Given the description of an element on the screen output the (x, y) to click on. 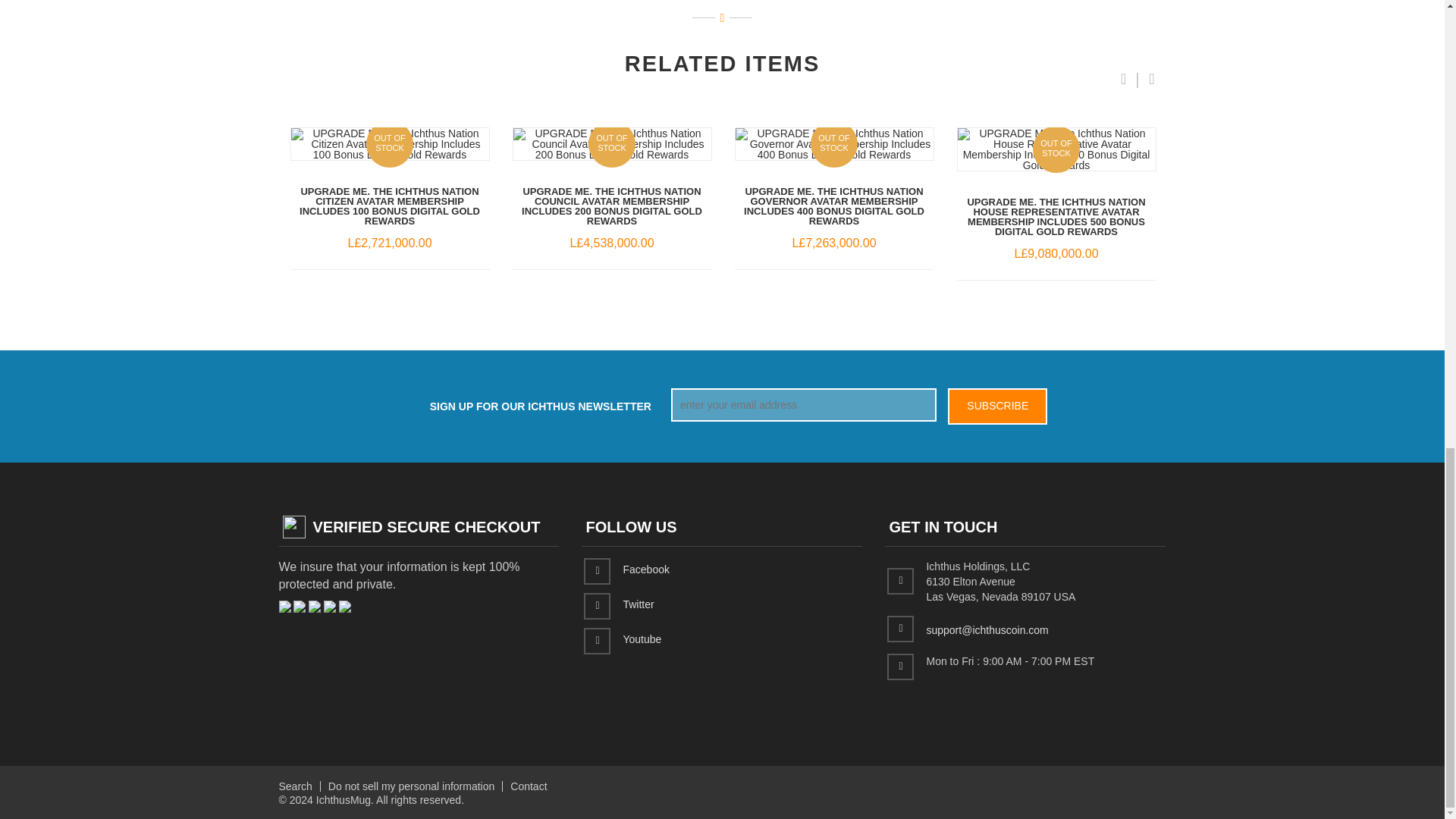
OUT OF STOCK (611, 143)
OUT OF STOCK (834, 143)
IchthusMug on Facebook (645, 568)
IchthusMug on Twitter (638, 603)
Youtube (642, 638)
OUT OF STOCK (1055, 148)
IchthusMug on Youtube (642, 638)
SUBSCRIBE (996, 406)
Facebook (645, 568)
OUT OF STOCK (390, 143)
Twitter (638, 603)
